Given the description of an element on the screen output the (x, y) to click on. 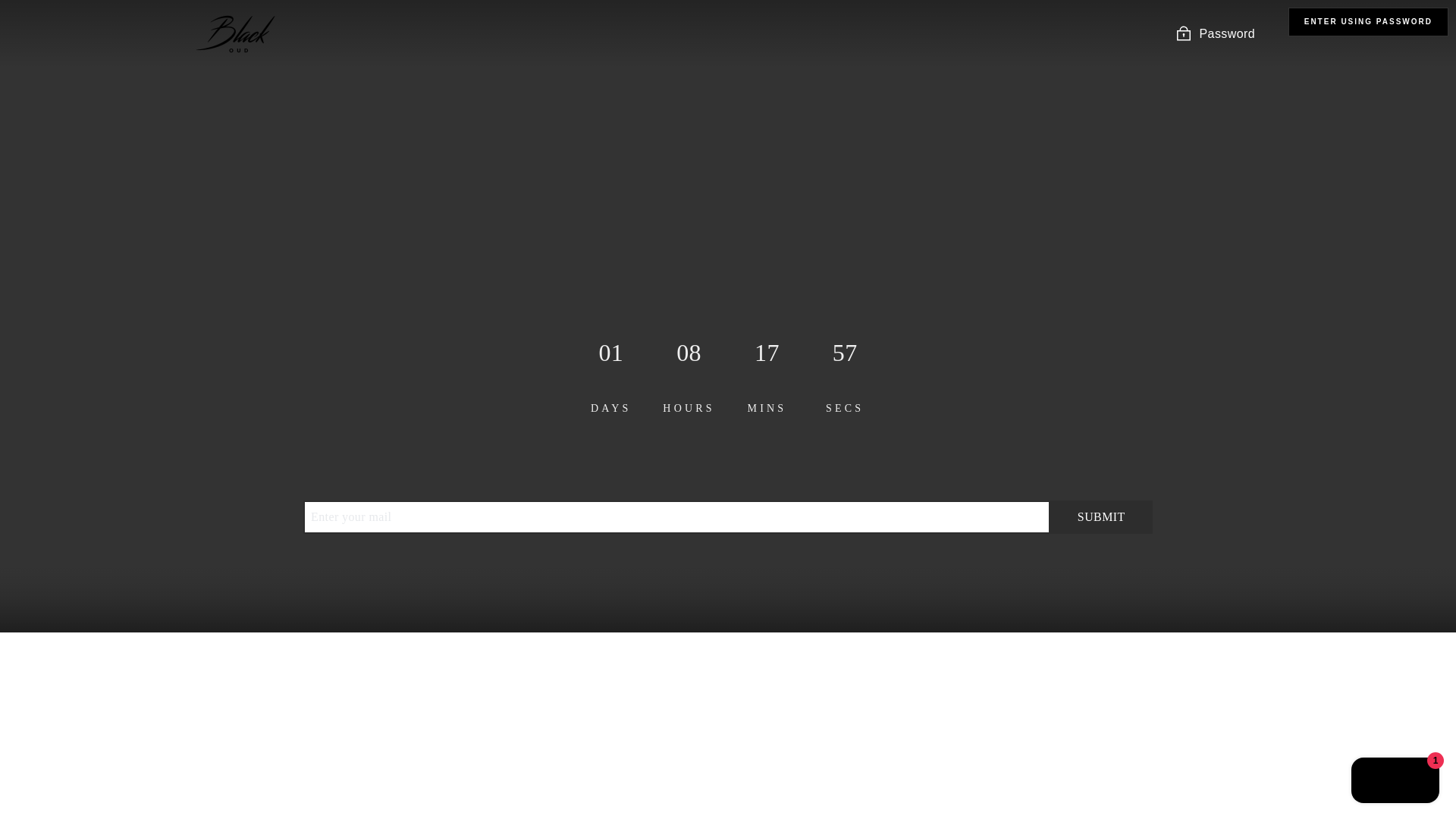
ENTER USING PASSWORD (1368, 21)
Password (1214, 33)
SUBMIT (1101, 516)
